Given the description of an element on the screen output the (x, y) to click on. 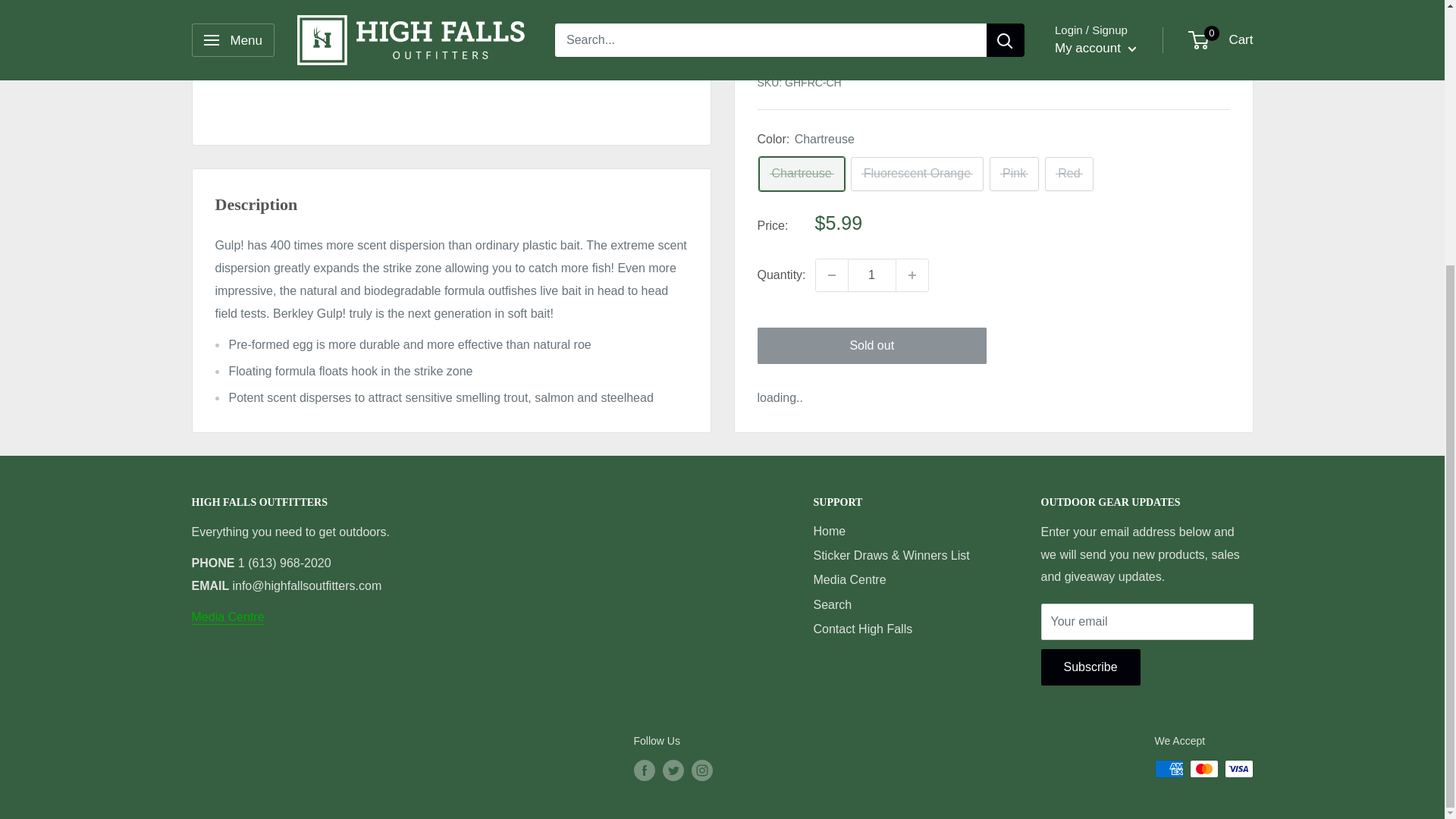
1 (871, 46)
Increase quantity by 1 (912, 46)
Decrease quantity by 1 (831, 46)
